Given the description of an element on the screen output the (x, y) to click on. 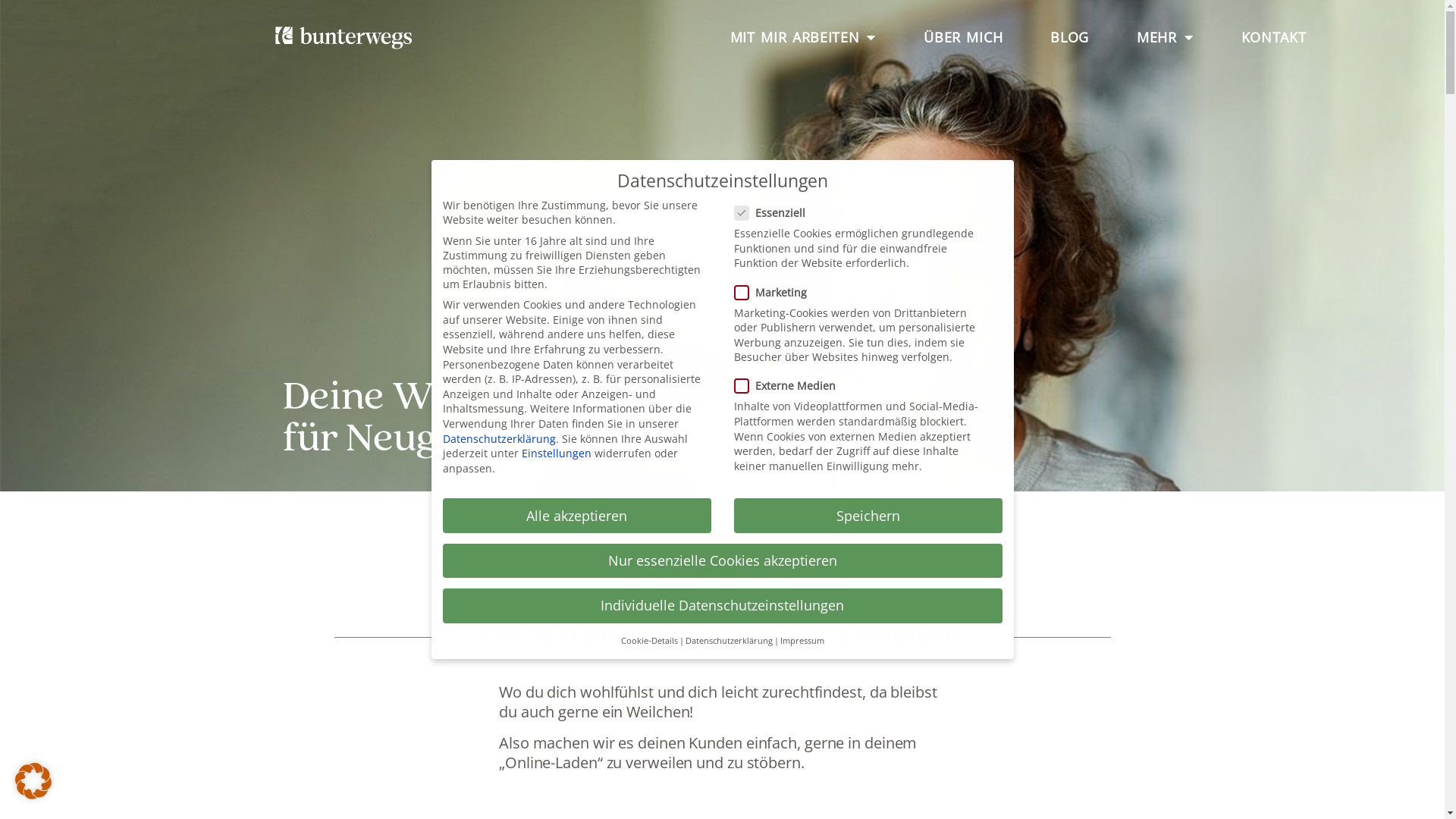
Individuelle Datenschutzeinstellungen Element type: text (722, 605)
BLOG Element type: text (1069, 37)
MIT MIR ARBEITEN Element type: text (803, 37)
Alle akzeptieren Element type: text (576, 515)
Speichern Element type: text (868, 515)
KONTAKT Element type: text (1273, 37)
Nur essenzielle Cookies akzeptieren Element type: text (722, 560)
Impressum Element type: text (801, 640)
Einstellungen Element type: text (556, 452)
Cookie-Details Element type: text (648, 640)
MEHR Element type: text (1164, 37)
